Given the description of an element on the screen output the (x, y) to click on. 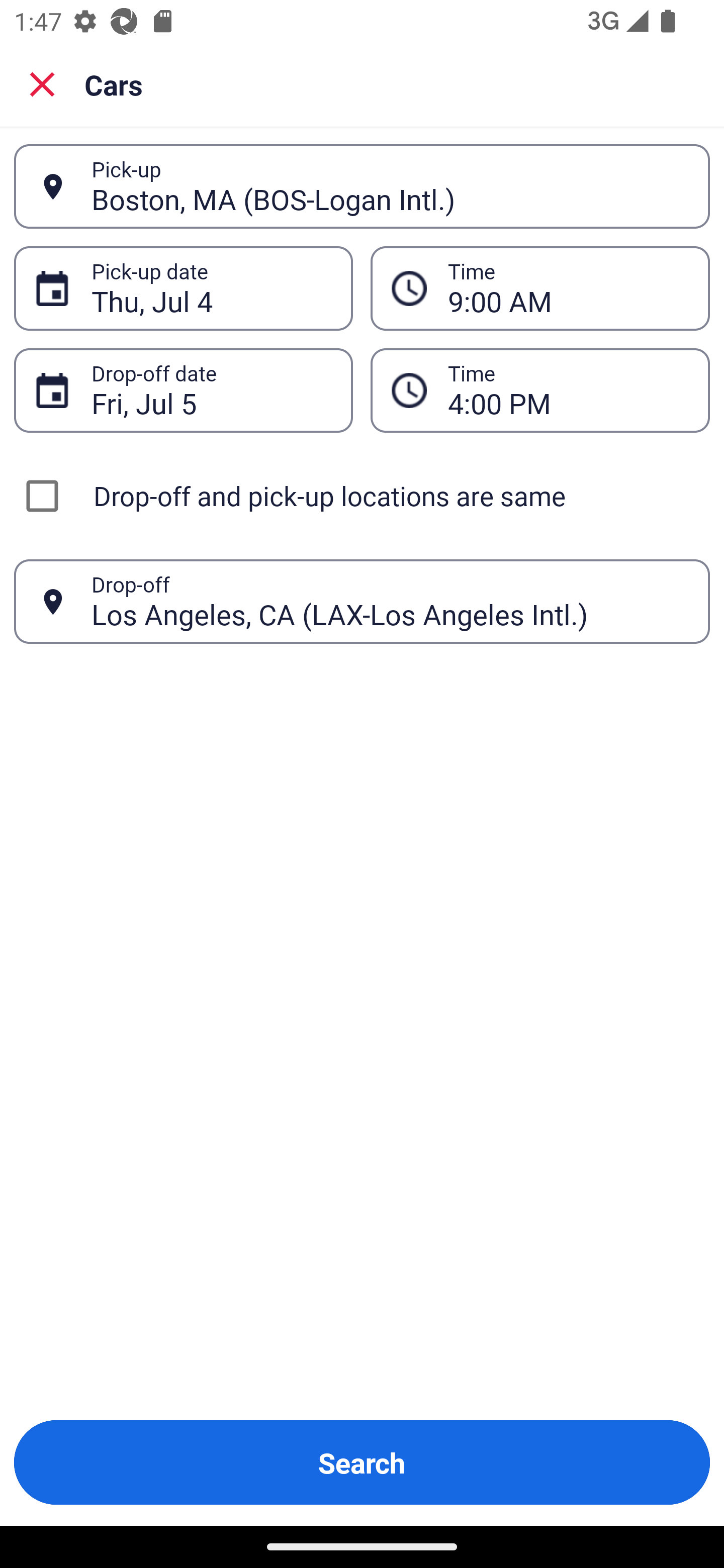
Close search screen (42, 84)
Boston, MA (BOS-Logan Intl.) (389, 186)
Thu, Jul 4 (211, 288)
9:00 AM (568, 288)
Fri, Jul 5 (211, 390)
4:00 PM (568, 390)
Drop-off and pick-up locations are same (361, 495)
Los Angeles, CA (LAX-Los Angeles Intl.) (389, 601)
Search Button Search (361, 1462)
